Given the description of an element on the screen output the (x, y) to click on. 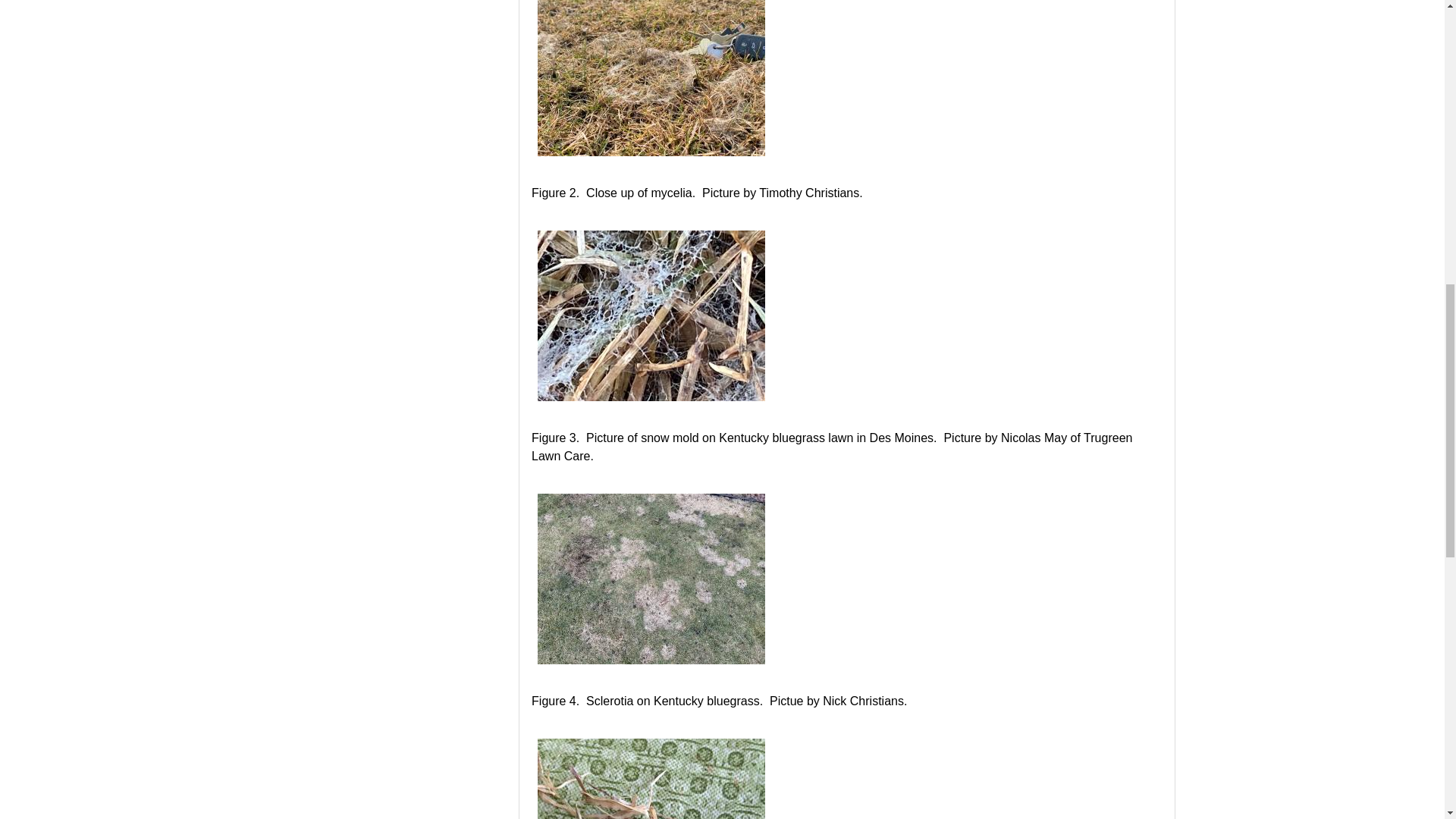
Close up of mycelia.  Picture by Timothy Christians (651, 315)
